Given the description of an element on the screen output the (x, y) to click on. 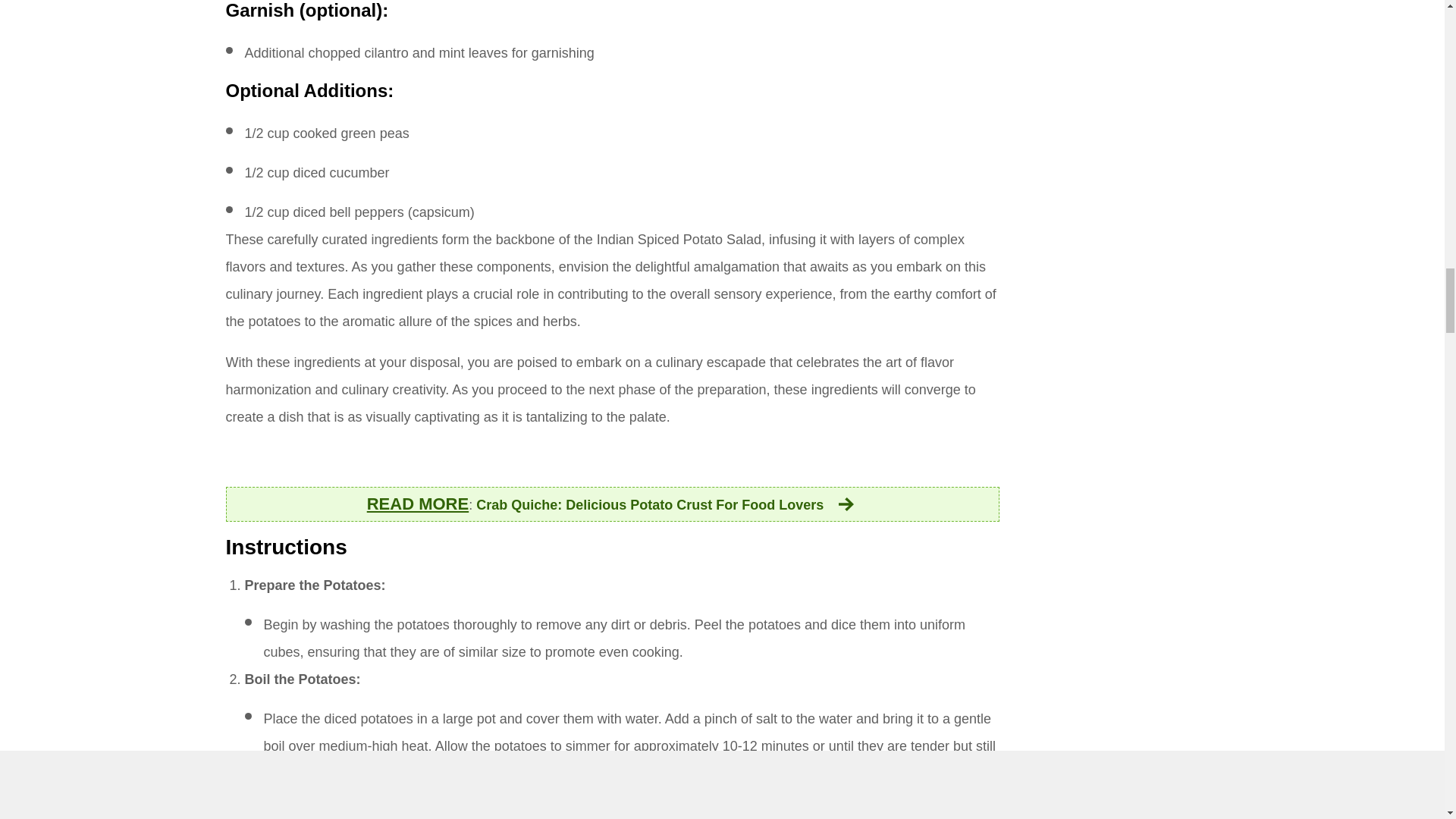
Crab Quiche: Delicious Potato Crust For Food Lovers (666, 504)
